Given the description of an element on the screen output the (x, y) to click on. 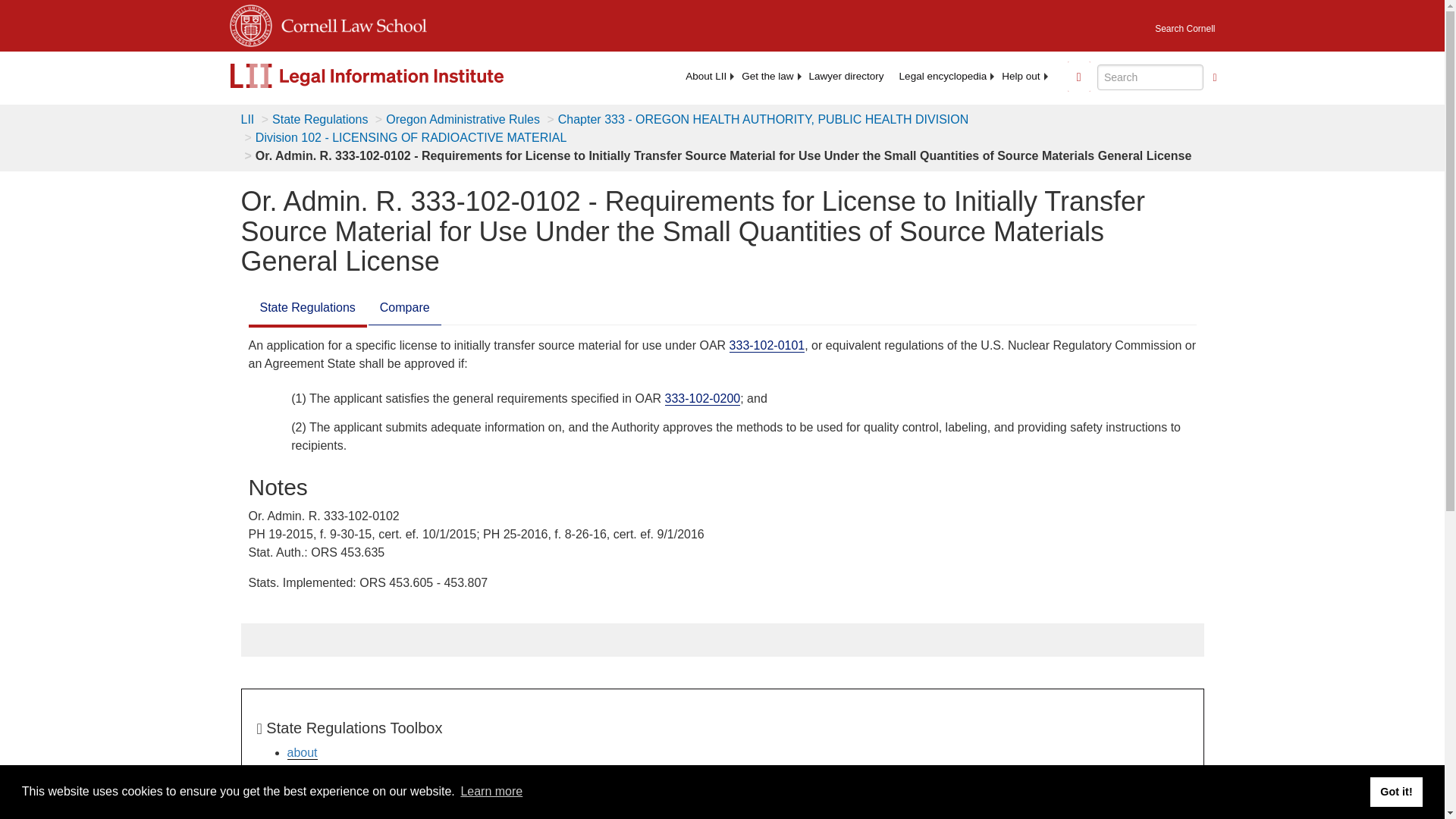
Cornell Law School (348, 23)
Search Cornell University (1184, 24)
Learn more (491, 791)
Lawyer directory (846, 76)
About LII (705, 76)
Get the law (766, 76)
Search Cornell (1184, 24)
Got it! (1396, 791)
Cornell University (249, 23)
Legal encyclopedia (942, 76)
Cornell Law School (348, 23)
